Given the description of an element on the screen output the (x, y) to click on. 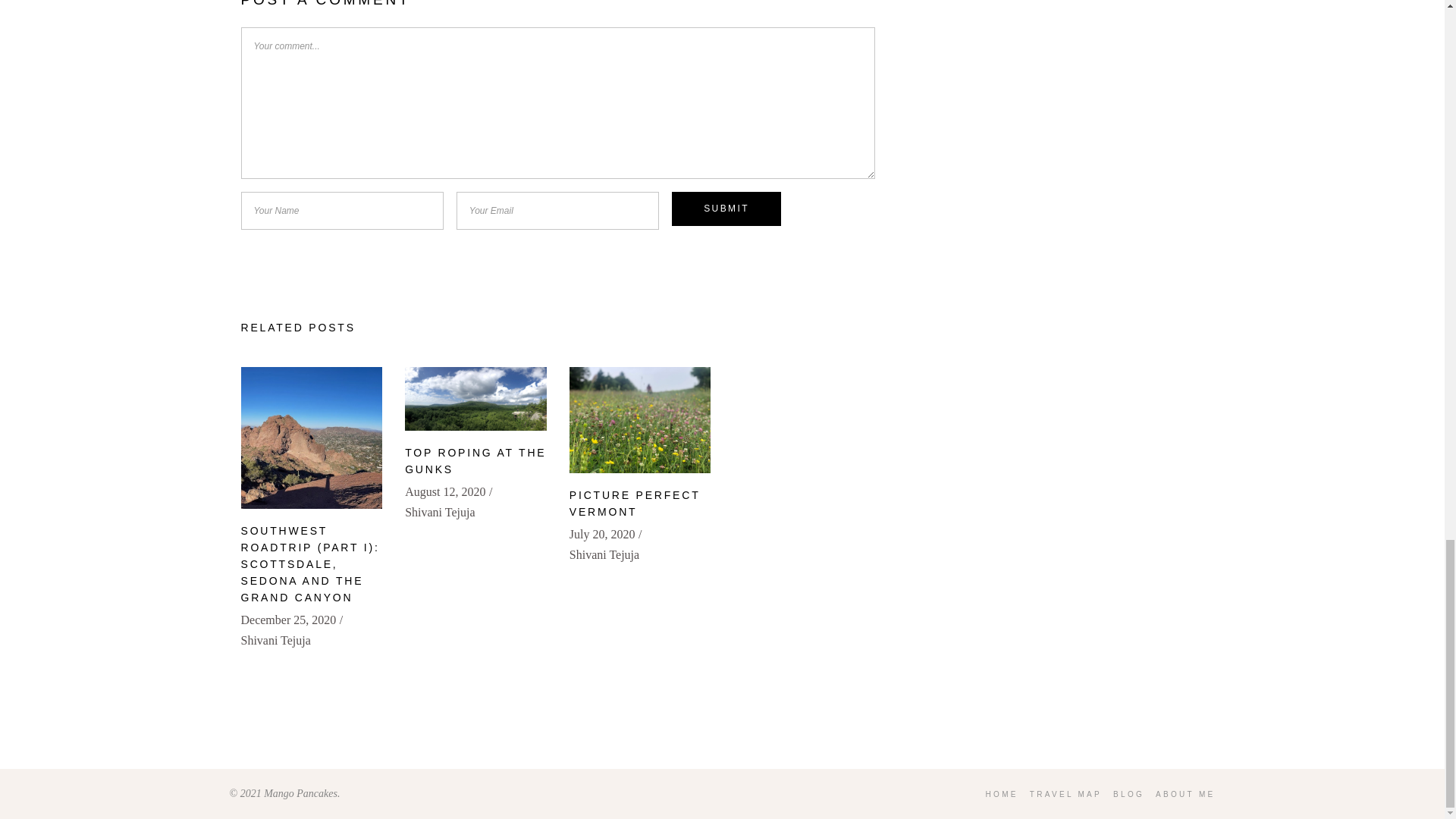
Picture Perfect Vermont (634, 502)
Top Roping at the Gunks (475, 398)
Picture Perfect Vermont (640, 419)
Submit (725, 208)
Top Roping at the Gunks (475, 460)
